Given the description of an element on the screen output the (x, y) to click on. 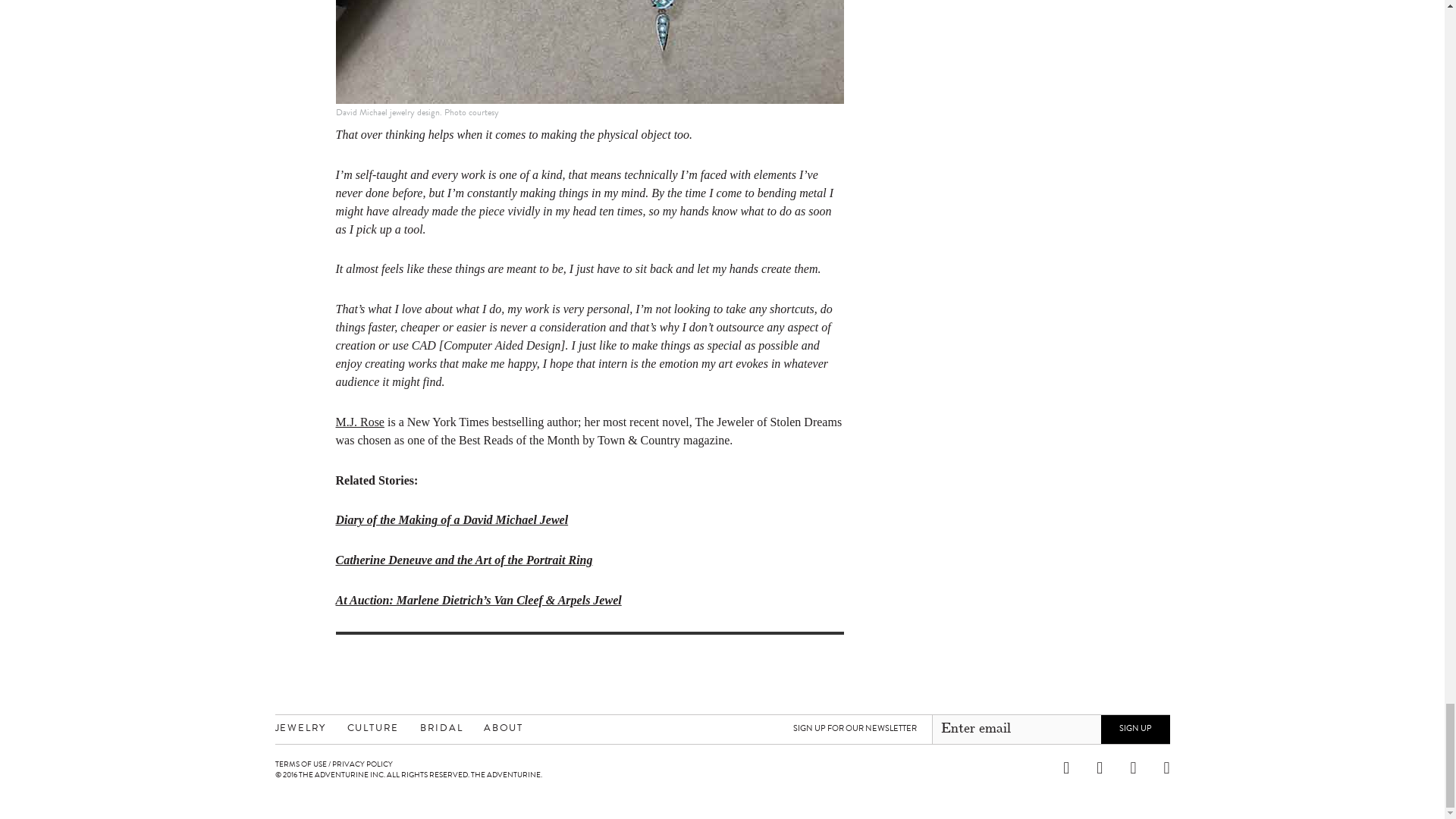
M.J. Rose (359, 421)
